Given the description of an element on the screen output the (x, y) to click on. 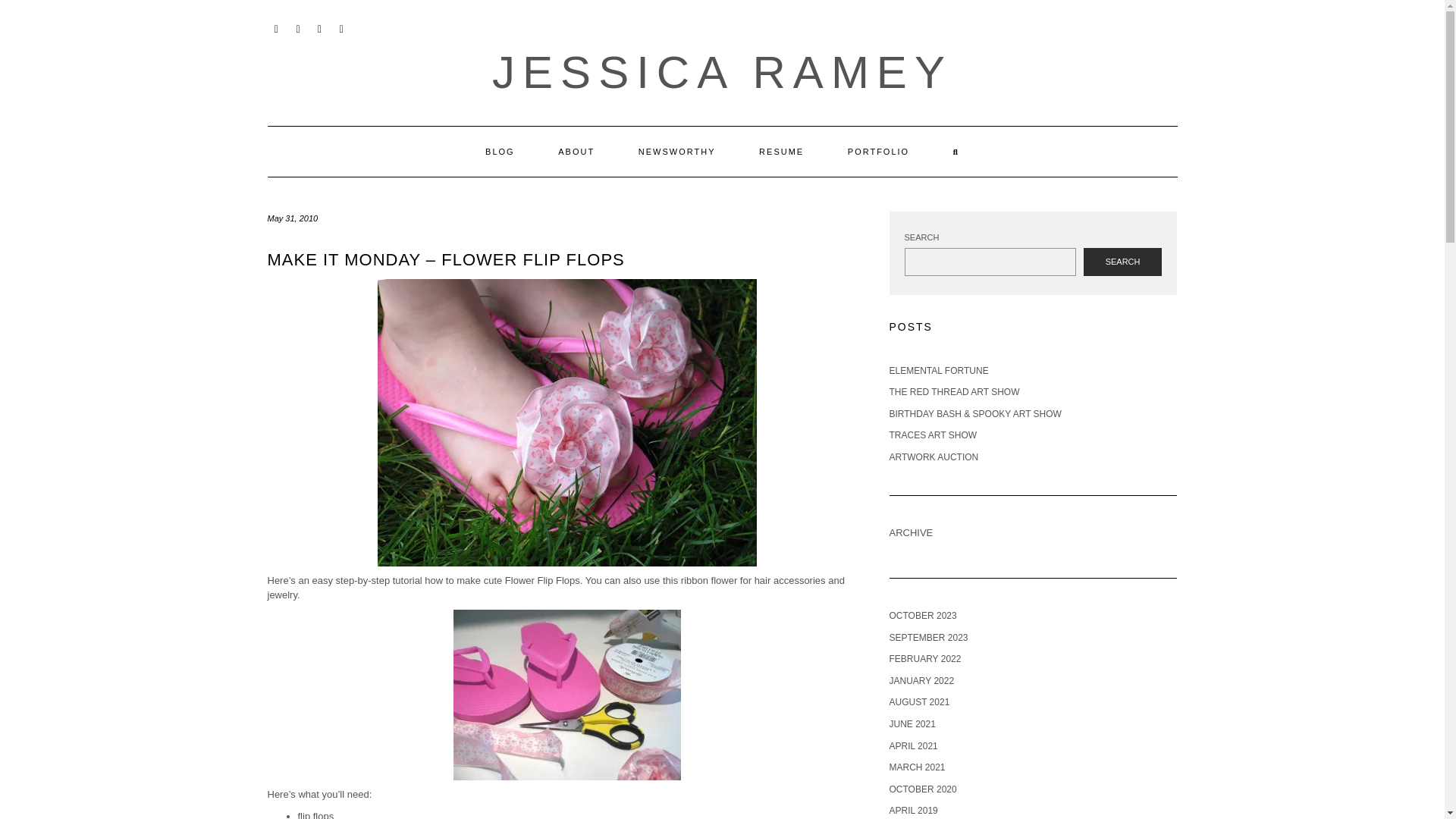
SEARCH (1122, 262)
RESUME (781, 151)
JESSICA RAMEY (722, 71)
NEWSWORTHY (676, 151)
SEPTEMBER 2023 (928, 637)
THE RED THREAD ART SHOW (953, 391)
TRACES ART SHOW (932, 434)
ELEMENTAL FORTUNE (938, 370)
OCTOBER 2023 (922, 615)
EMAIL (275, 27)
